Given the description of an element on the screen output the (x, y) to click on. 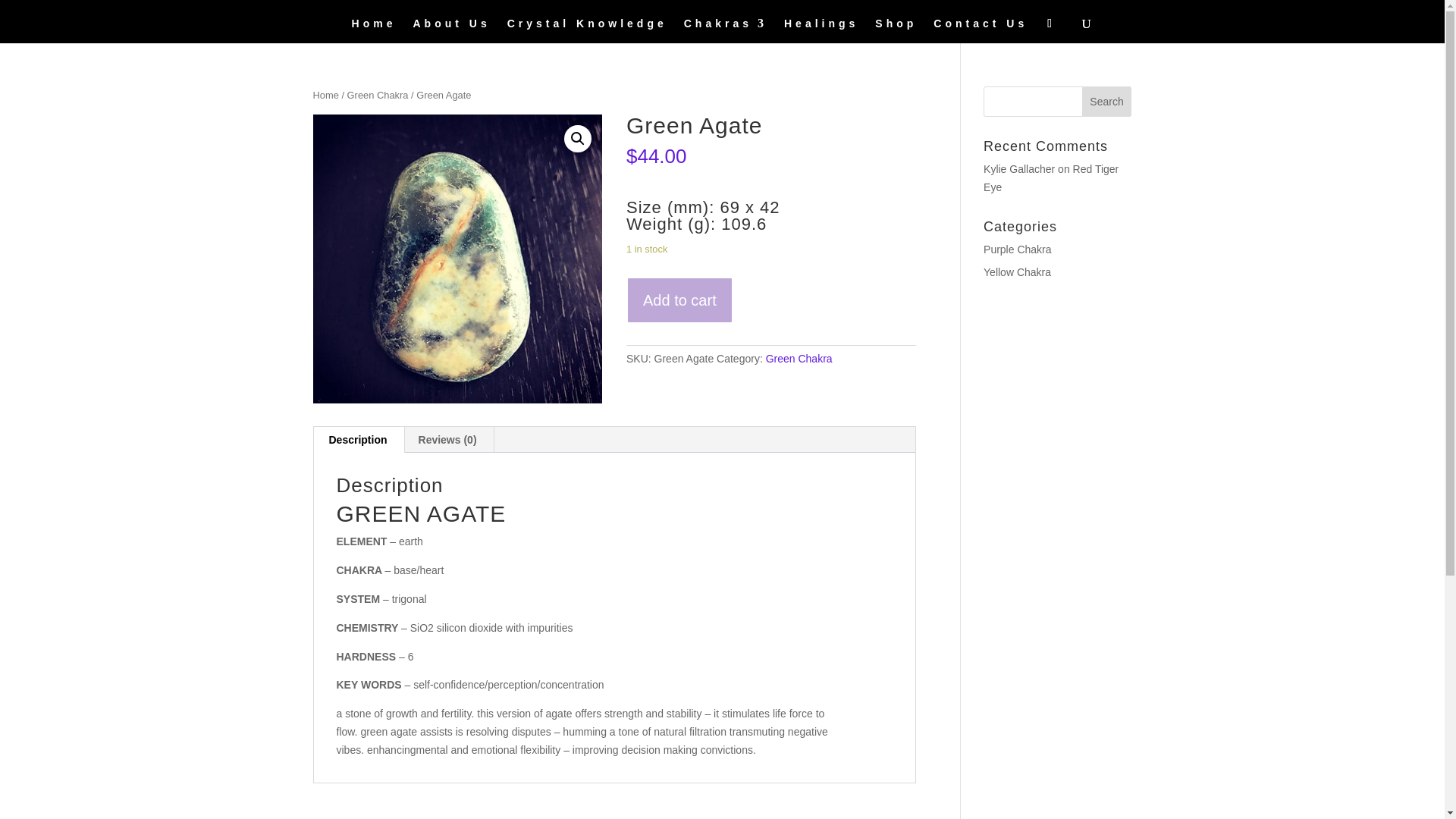
Shop (896, 30)
Crystal Knowledge (586, 30)
Home (325, 94)
Add to cart (679, 300)
Contact Us (980, 30)
About Us (450, 30)
Green Agate (457, 259)
Green Chakra (798, 358)
Chakras (725, 30)
Green Chakra (378, 94)
Healings (821, 30)
Home (374, 30)
Description (358, 439)
Search (1106, 101)
